Given the description of an element on the screen output the (x, y) to click on. 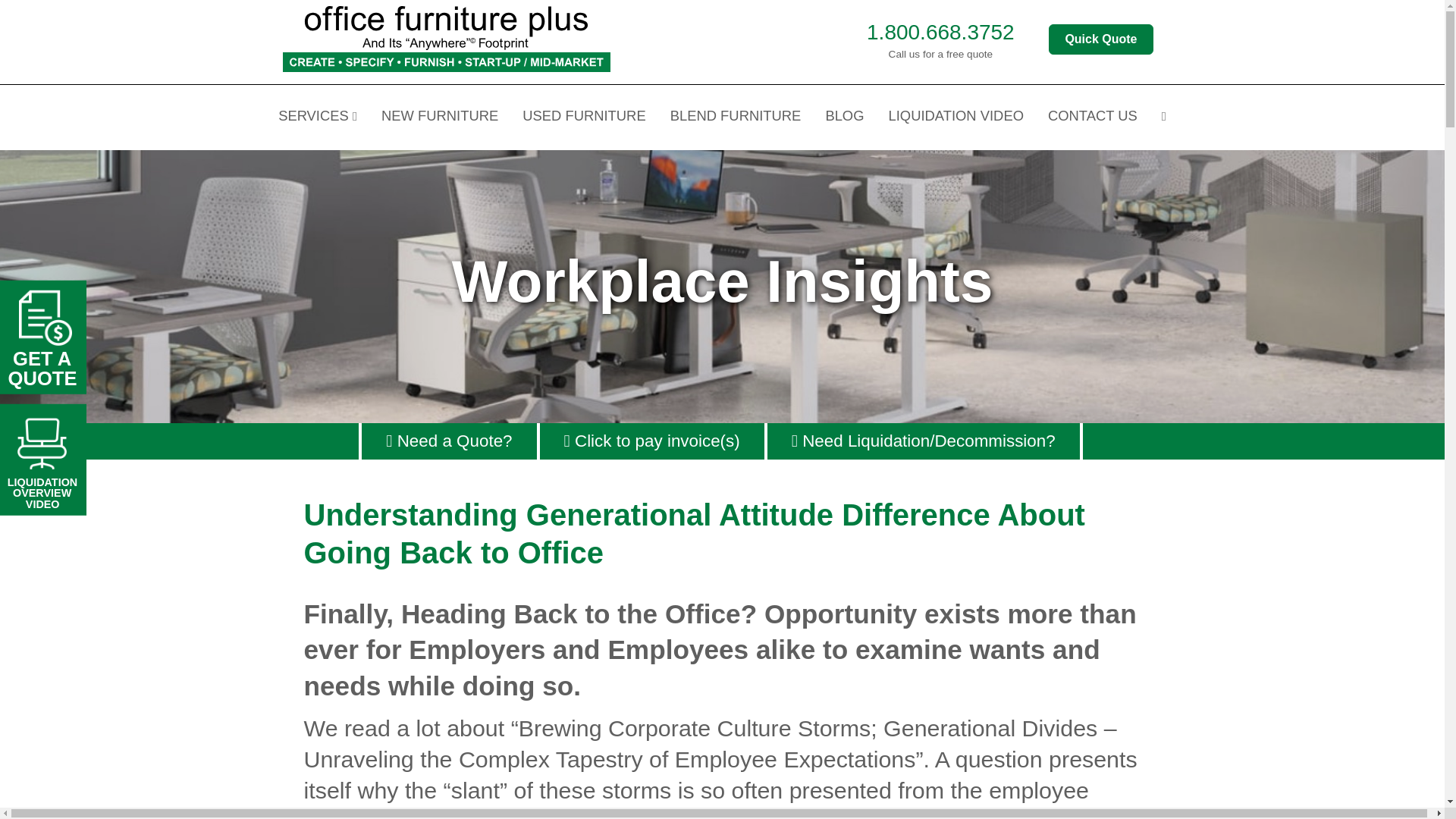
NEW FURNITURE (439, 117)
BLEND FURNITURE (735, 117)
CONTACT US (1092, 117)
SERVICES (317, 117)
1.800.668.3752 (940, 31)
USED FURNITURE (583, 117)
LIQUIDATION VIDEO (955, 117)
Quick Quote (1100, 39)
